Given the description of an element on the screen output the (x, y) to click on. 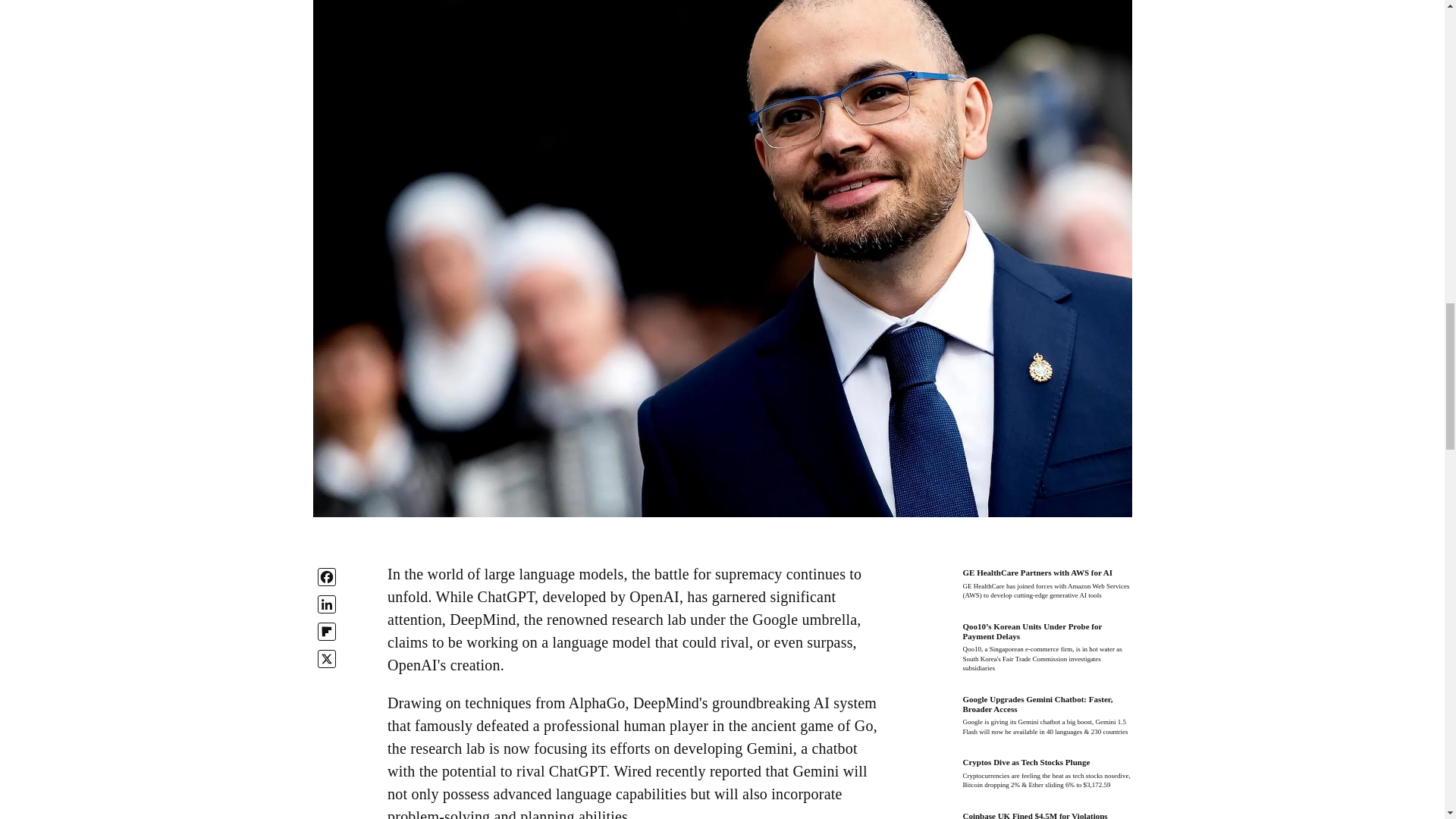
Flipboard (325, 631)
X (325, 659)
Linkedin (325, 604)
Facebook (325, 577)
